Given the description of an element on the screen output the (x, y) to click on. 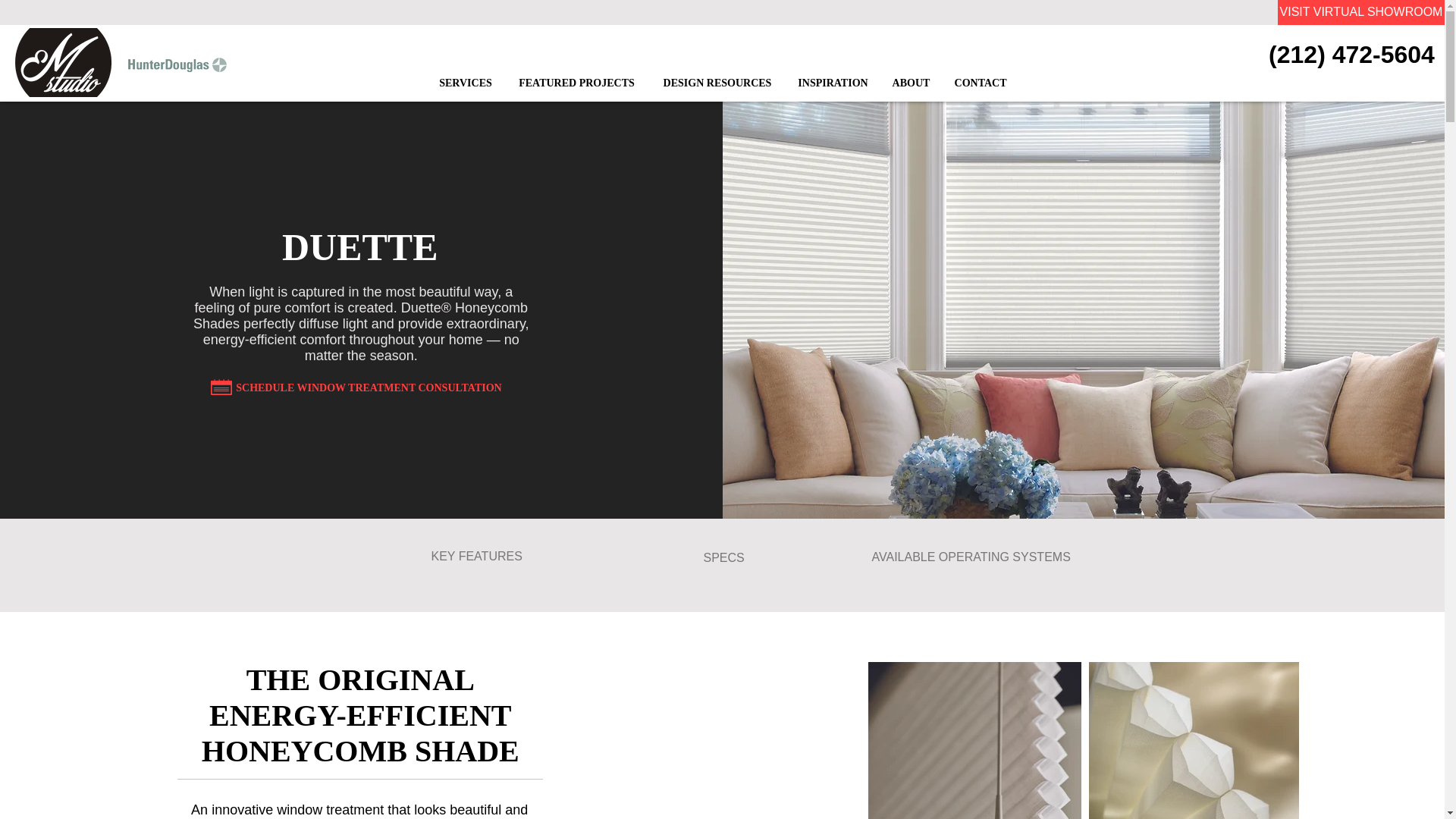
DESIGN RESOURCES (717, 82)
SPECS (723, 557)
SCHEDULE WINDOW TREATMENT CONSULTATION (367, 387)
AVAILABLE OPERATING SYSTEMS (971, 556)
SERVICES (464, 82)
CONTACT (979, 82)
KEY FEATURES (475, 556)
FEATURED PROJECTS (577, 82)
ABOUT (910, 82)
INSPIRATION (832, 82)
